Given the description of an element on the screen output the (x, y) to click on. 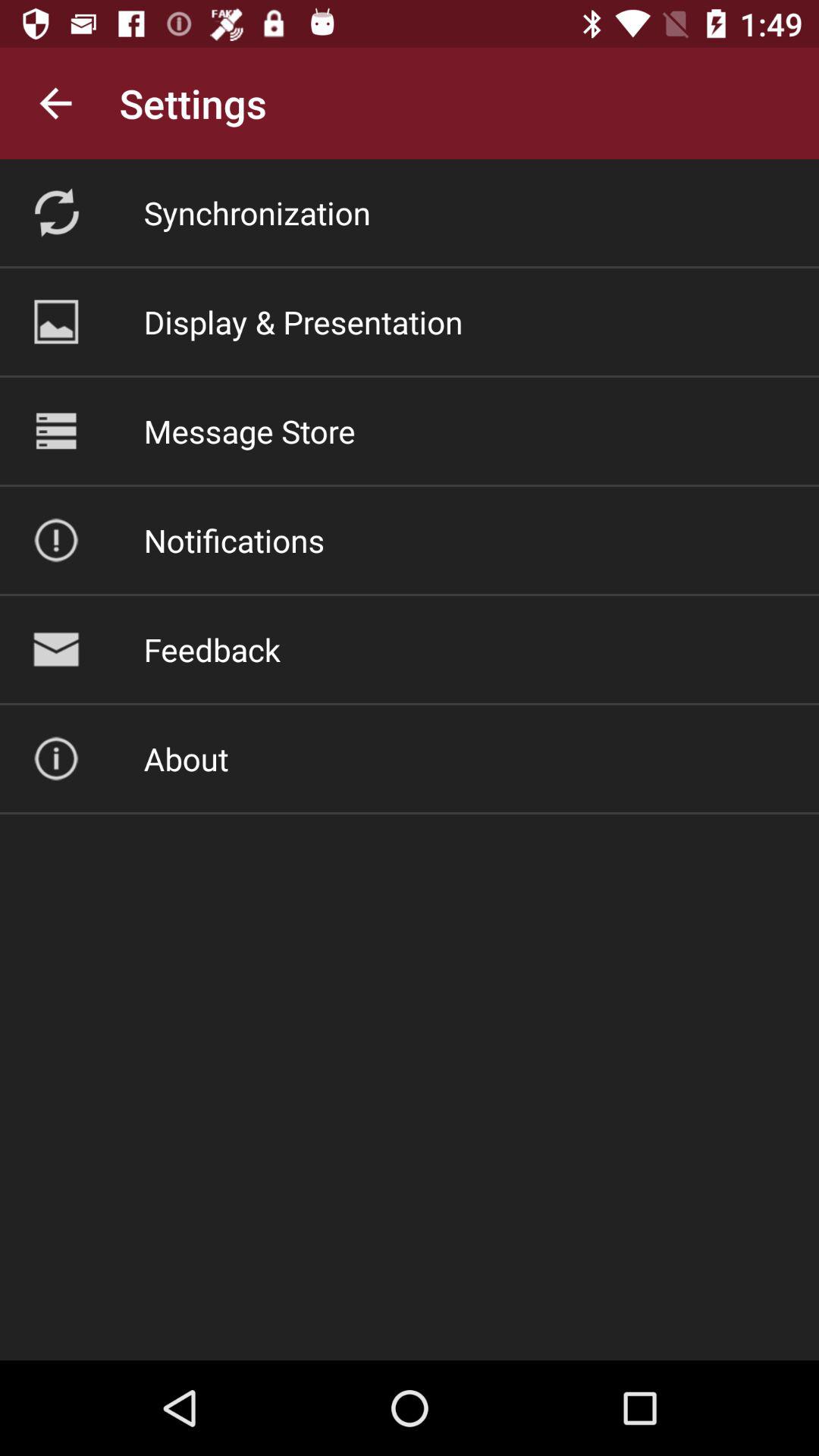
swipe until about item (185, 758)
